Given the description of an element on the screen output the (x, y) to click on. 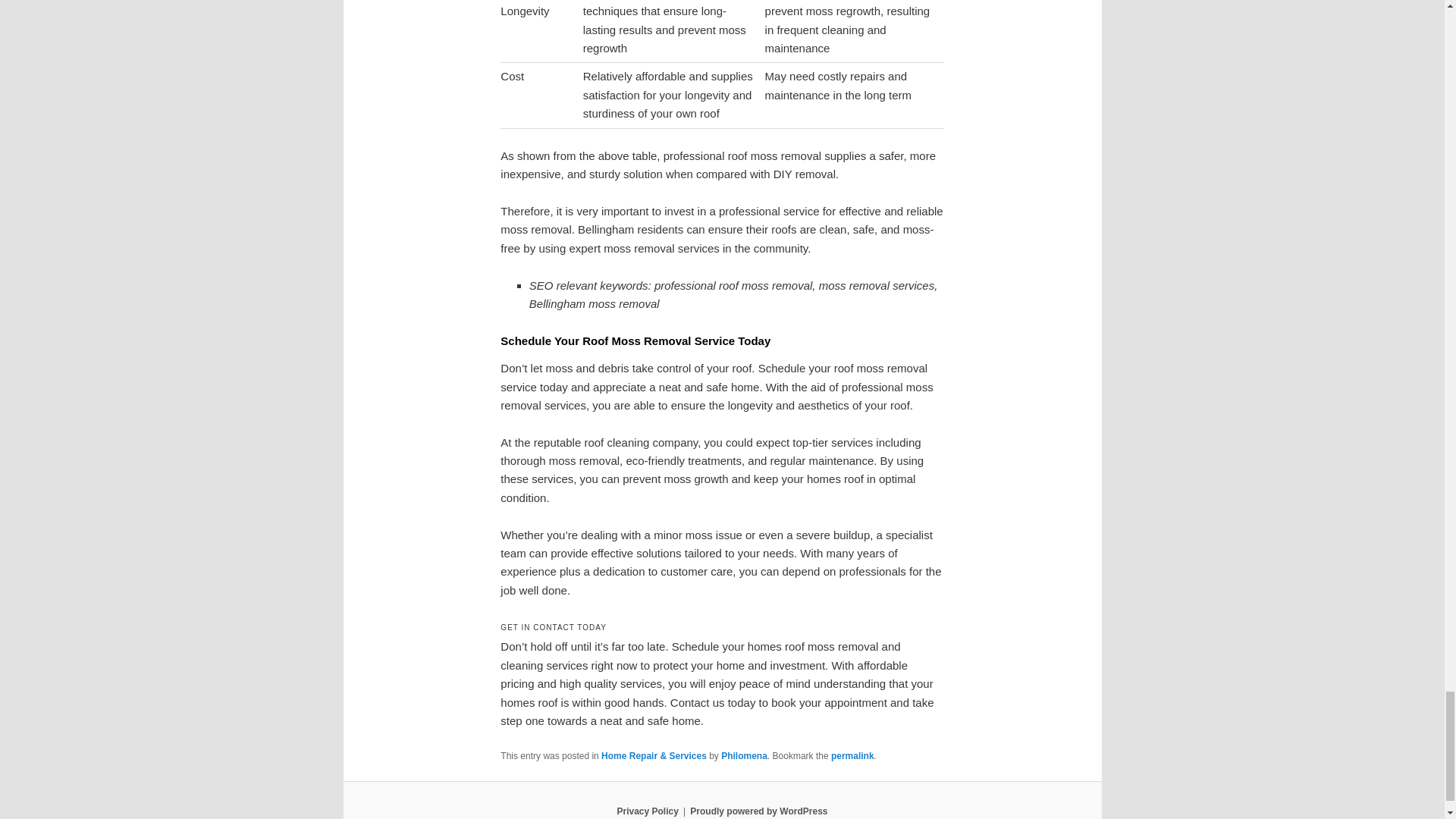
Proudly powered by WordPress (758, 810)
Semantic Personal Publishing Platform (758, 810)
Philomena (743, 756)
permalink (853, 756)
Privacy Policy (646, 810)
